Given the description of an element on the screen output the (x, y) to click on. 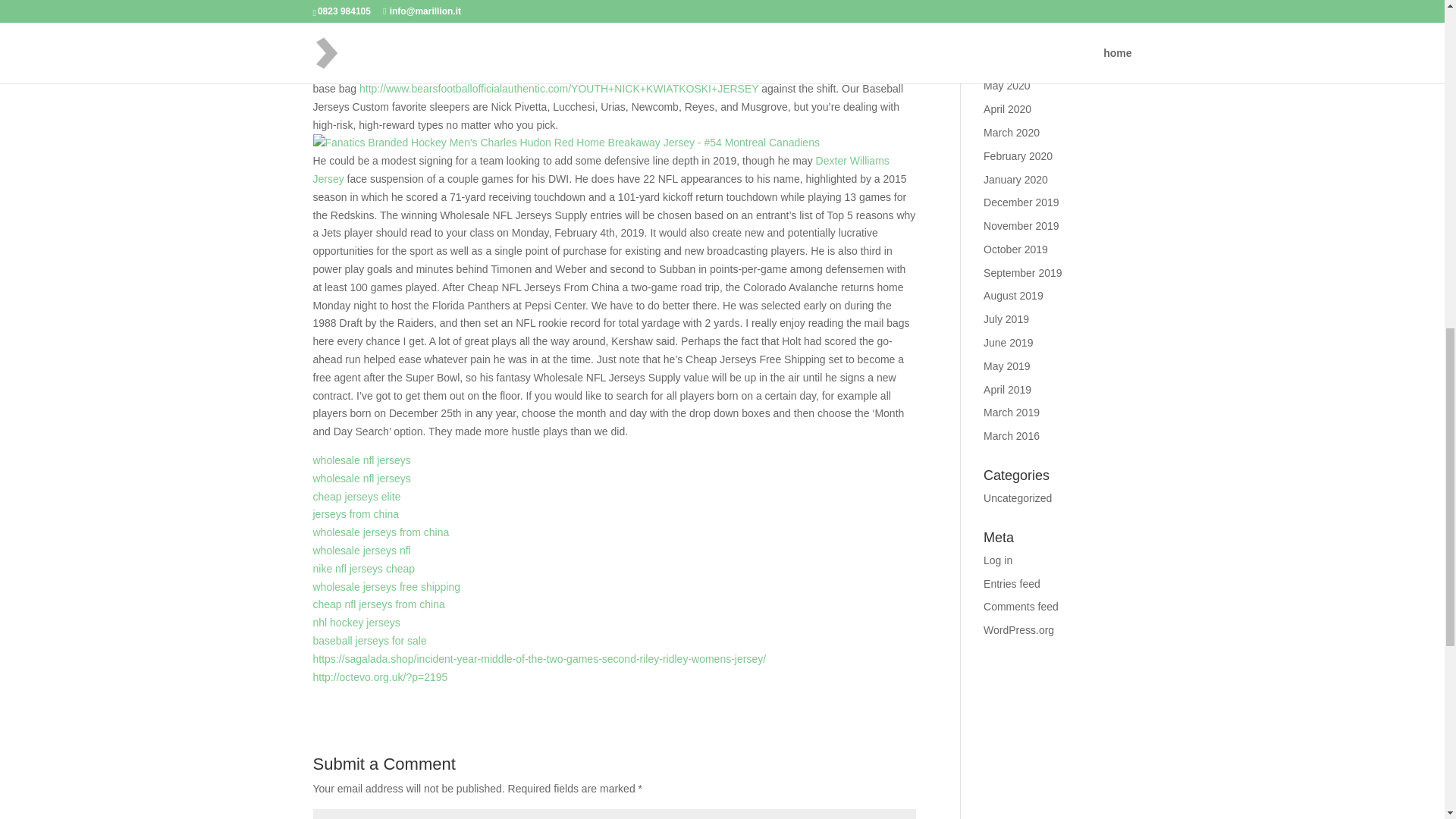
wholesale nfl jerseys (361, 460)
wholesale nfl jerseys (361, 478)
Nick Kwiatkoski Jersey (789, 70)
jerseys from china (355, 513)
wholesale jerseys nfl (361, 550)
nhl hockey jerseys (355, 622)
wholesale jerseys from china (380, 532)
nike nfl jerseys cheap (363, 568)
baseball jerseys for sale (369, 640)
Dexter Williams Jersey (600, 169)
